Given the description of an element on the screen output the (x, y) to click on. 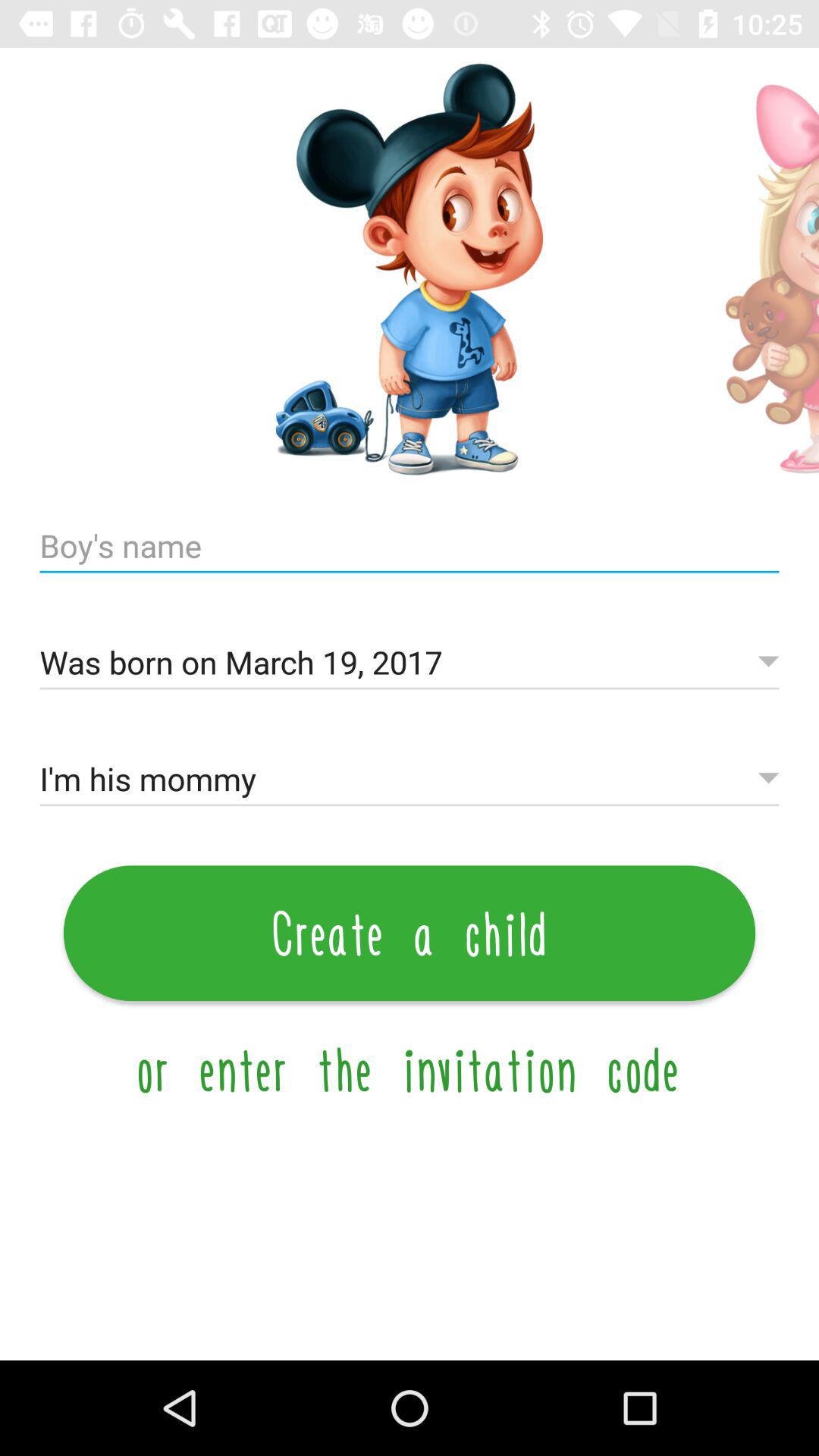
choose icon below the i m his icon (409, 933)
